Given the description of an element on the screen output the (x, y) to click on. 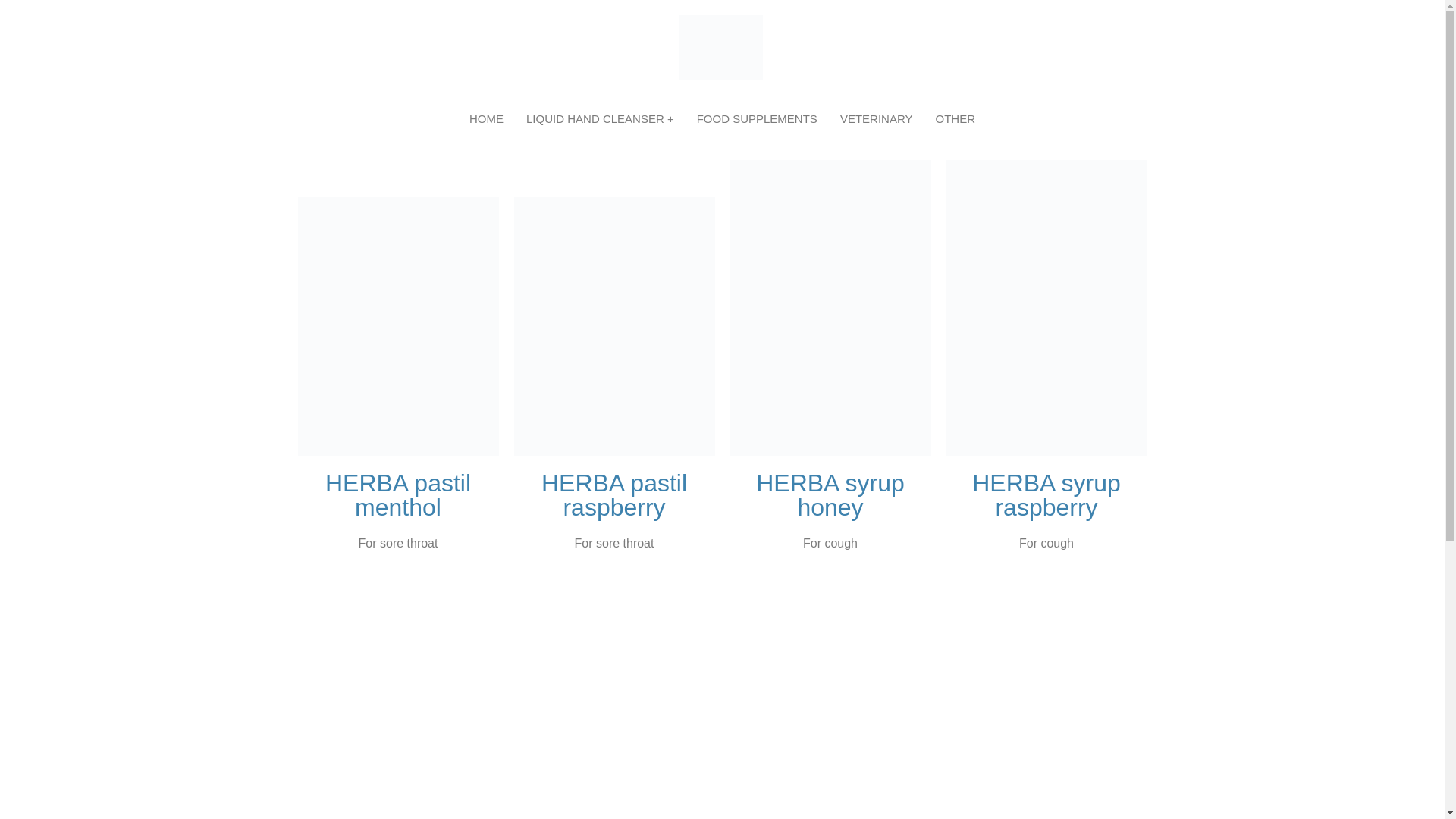
FOOD SUPPLEMENTS Element type: text (756, 118)
HERBA syrup raspberry Element type: text (1046, 494)
Akses_SWISS_logo Element type: hover (720, 47)
HERBA syrup honey Element type: text (830, 494)
VETERINARY Element type: text (876, 118)
HOME Element type: text (486, 118)
HERBA pastil raspberry Element type: text (614, 494)
OTHER Element type: text (954, 118)
LIQUID HAND CLEANSER + Element type: text (599, 118)
HERBA pastil menthol Element type: text (397, 494)
